Given the description of an element on the screen output the (x, y) to click on. 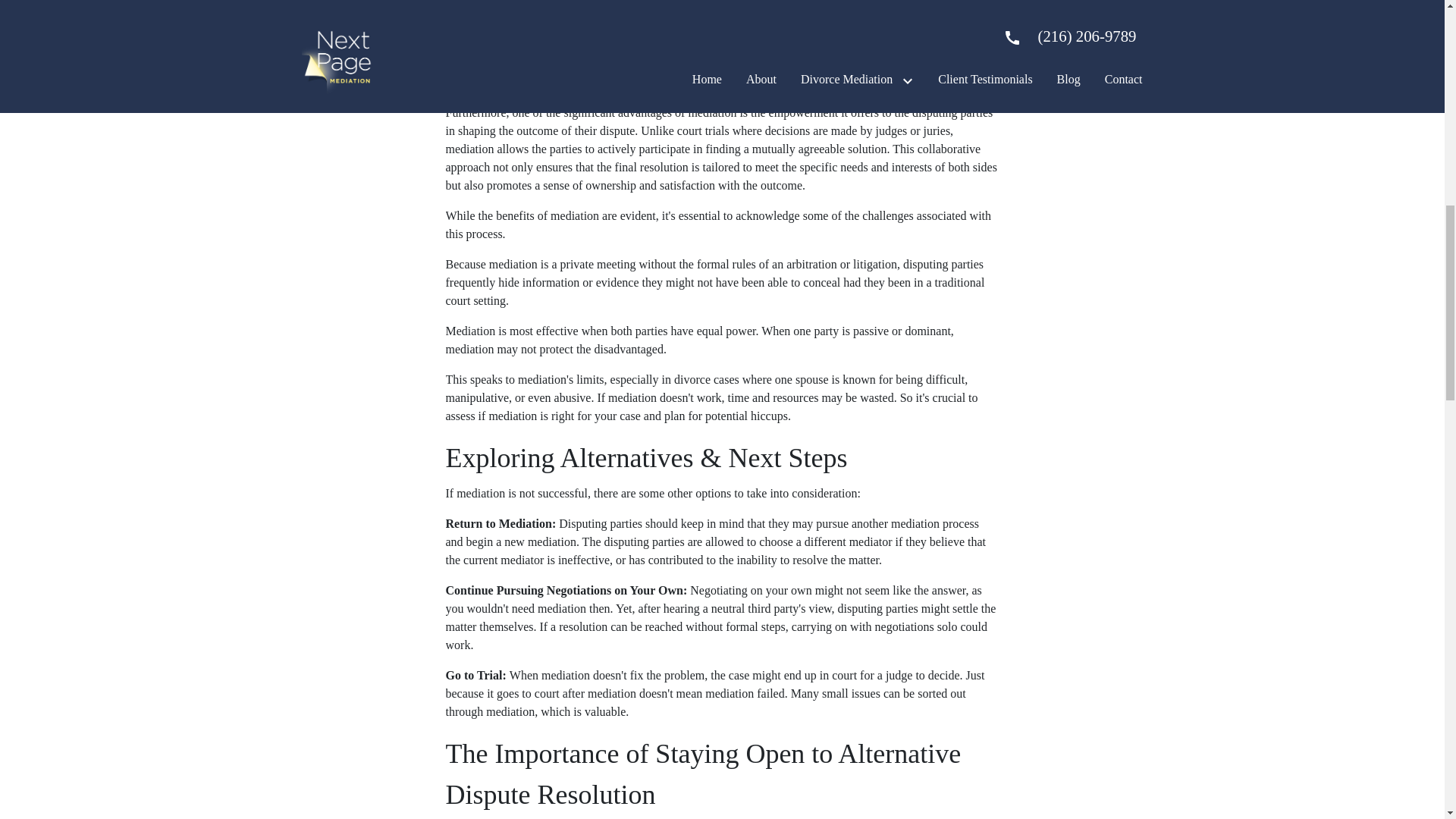
numerous reasons (698, 27)
